Given the description of an element on the screen output the (x, y) to click on. 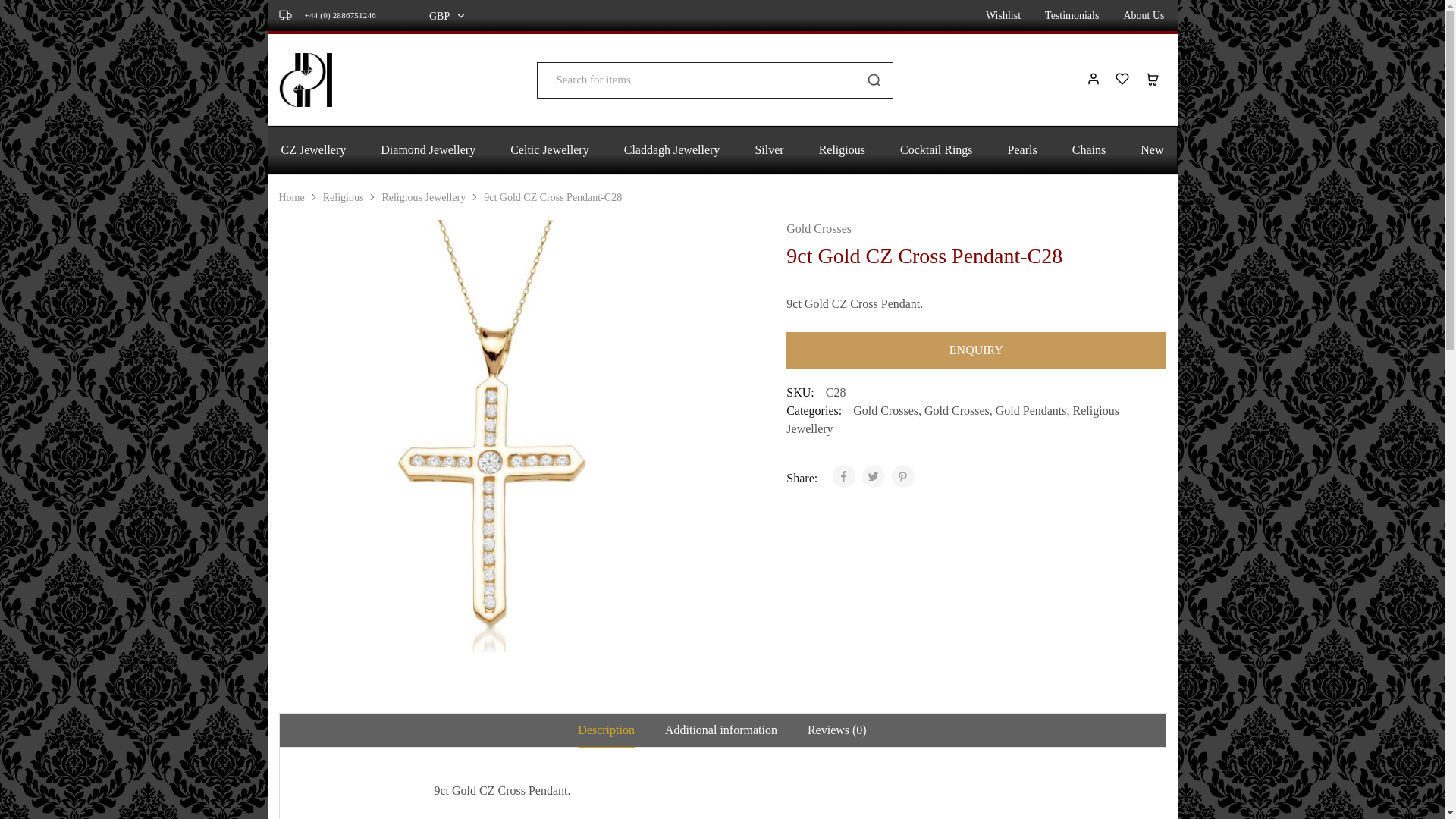
Testimonials (1071, 15)
CZ Jewellery (314, 149)
Wishlist (1003, 15)
Diamond Jewellery (427, 149)
About Us (1143, 15)
9ct Gold CZ Cross Pendant-C28 (976, 350)
